Given the description of an element on the screen output the (x, y) to click on. 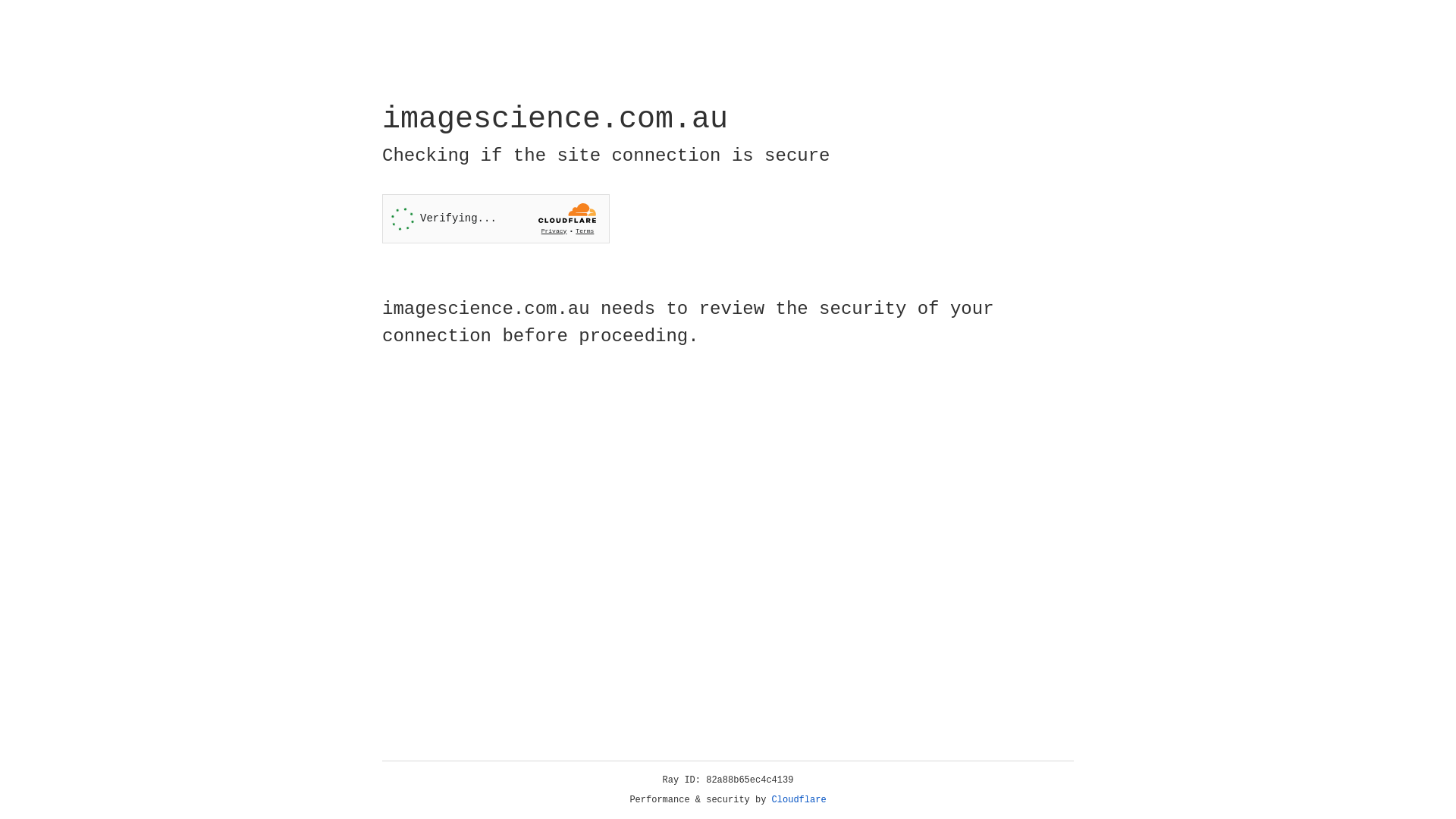
Widget containing a Cloudflare security challenge Element type: hover (495, 218)
Cloudflare Element type: text (798, 799)
